Given the description of an element on the screen output the (x, y) to click on. 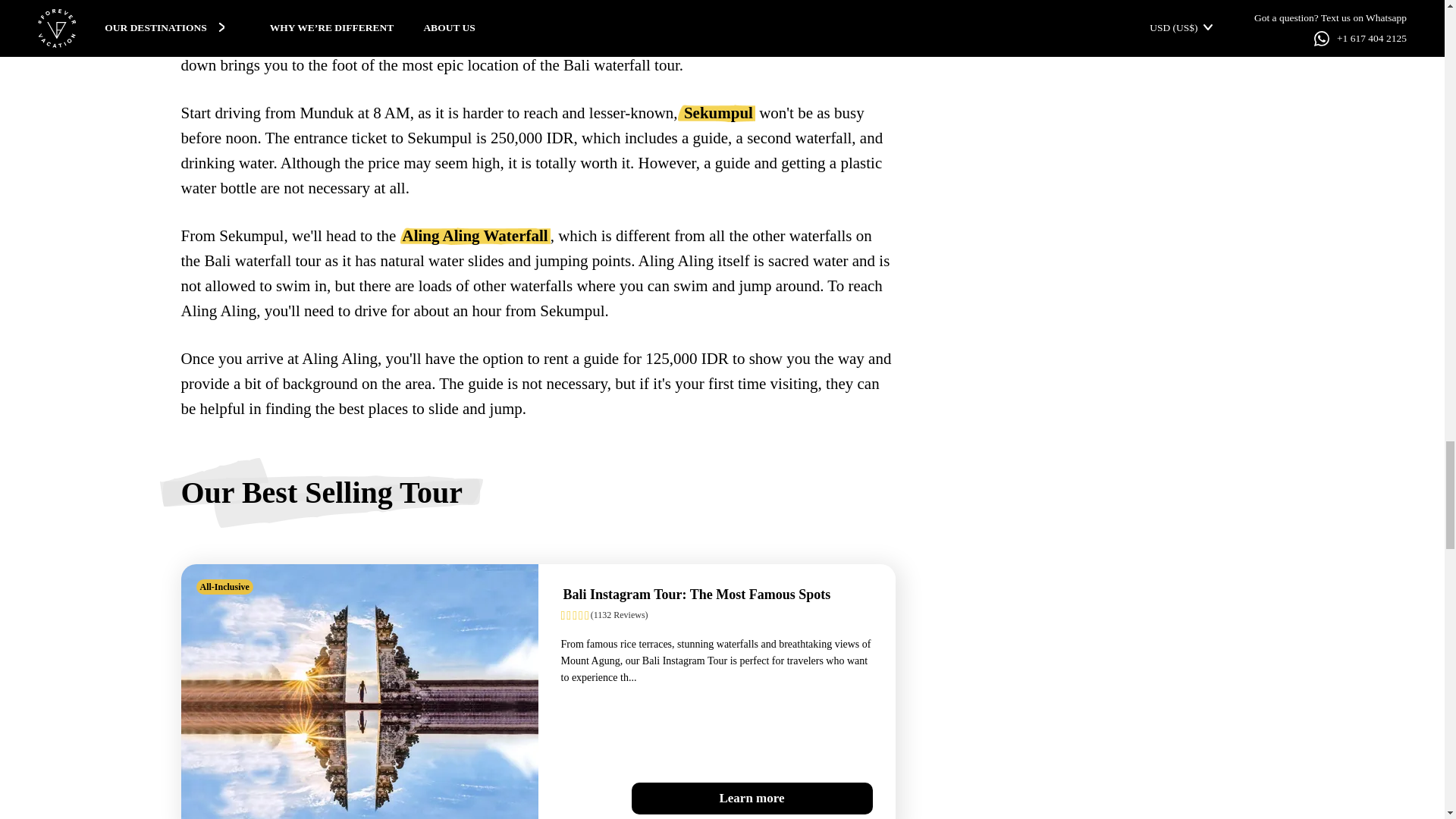
5 Stars - 1132 Reviews (716, 615)
